Given the description of an element on the screen output the (x, y) to click on. 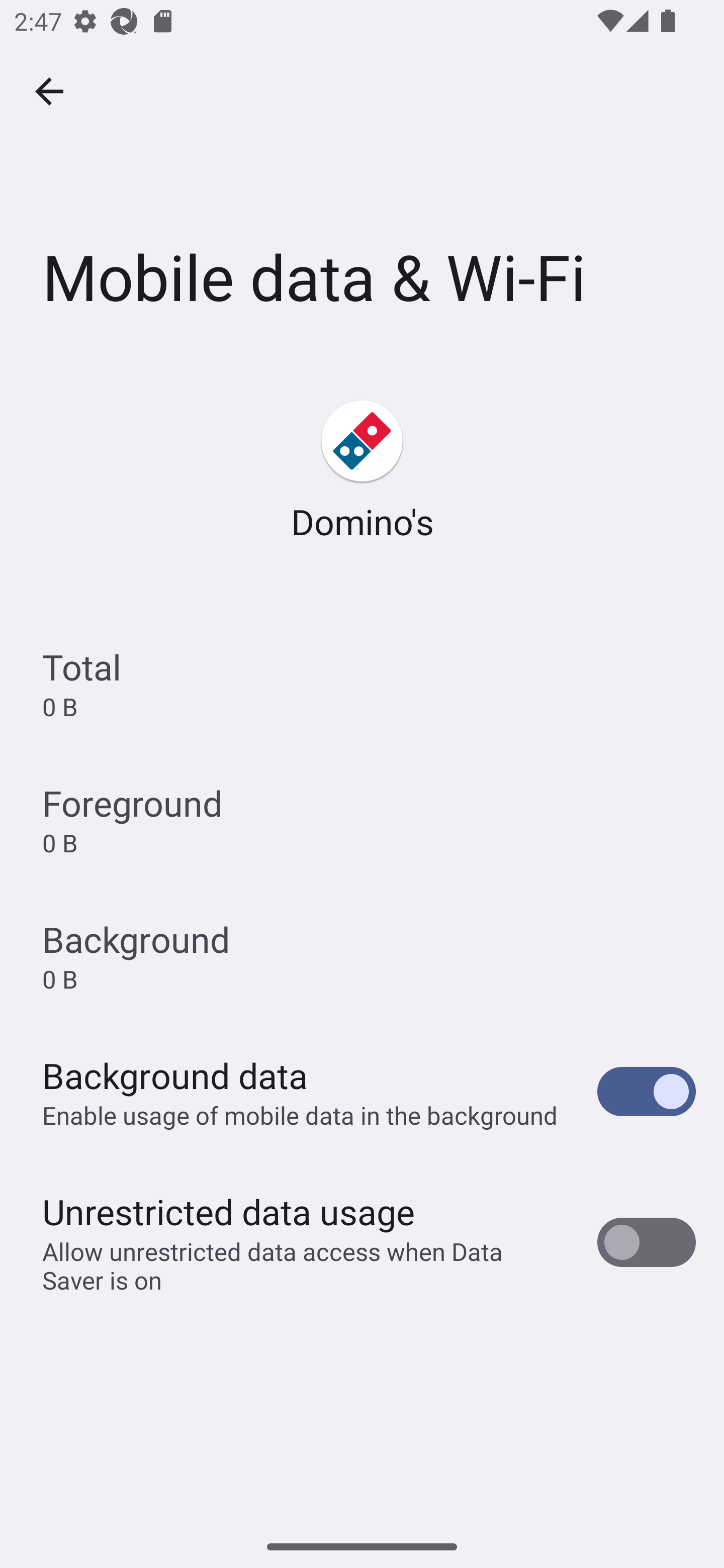
Navigate up (49, 91)
Domino's (361, 471)
